Given the description of an element on the screen output the (x, y) to click on. 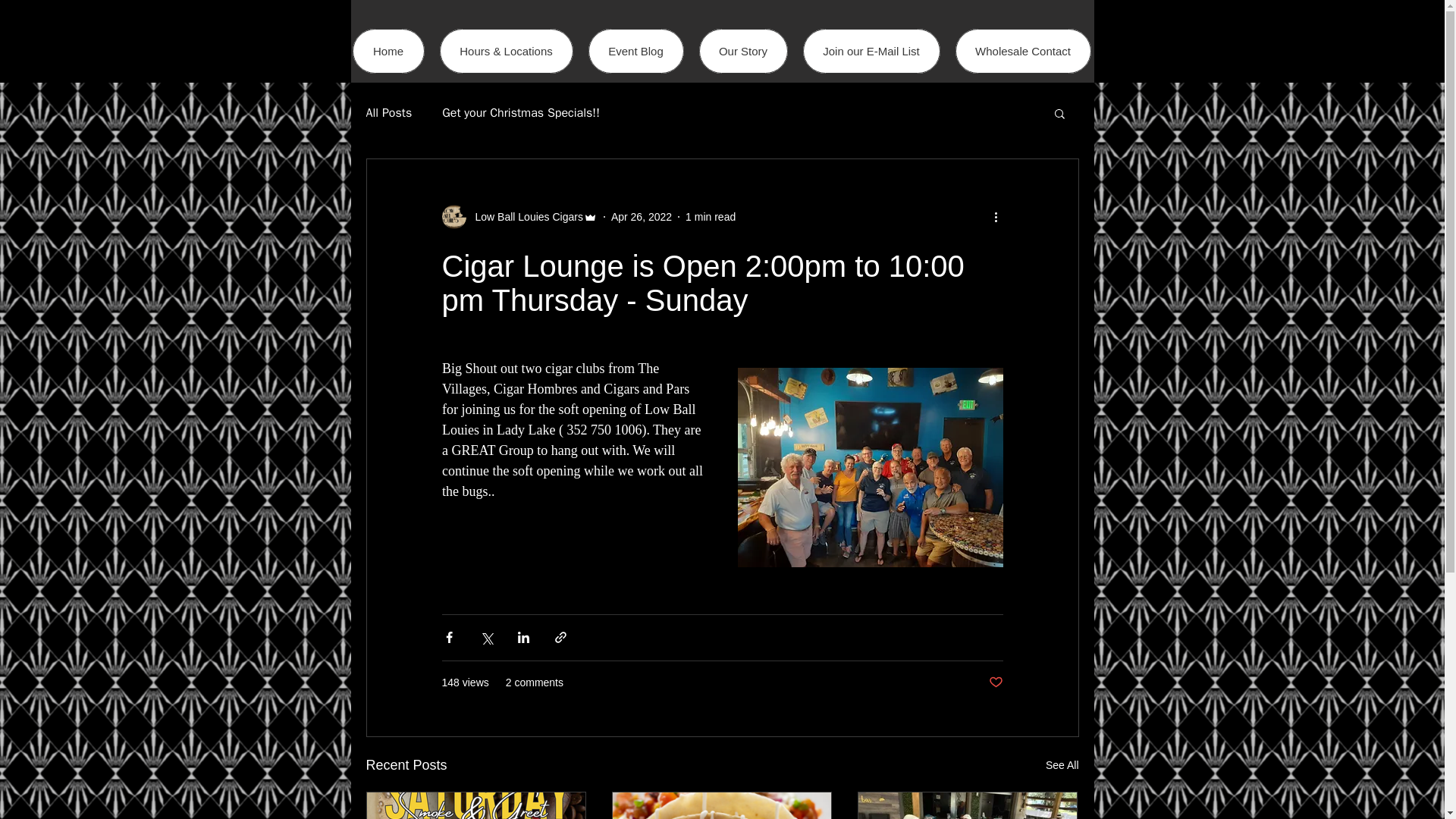
All Posts (388, 112)
Apr 26, 2022 (641, 216)
Get your Christmas Specials!! (520, 112)
Our Story (742, 50)
Wholesale Contact (1022, 50)
Low Ball Louies Cigars (523, 217)
1 min read (710, 216)
Post not marked as liked (995, 682)
Low Ball Louies Cigars (518, 216)
Home (387, 50)
